Given the description of an element on the screen output the (x, y) to click on. 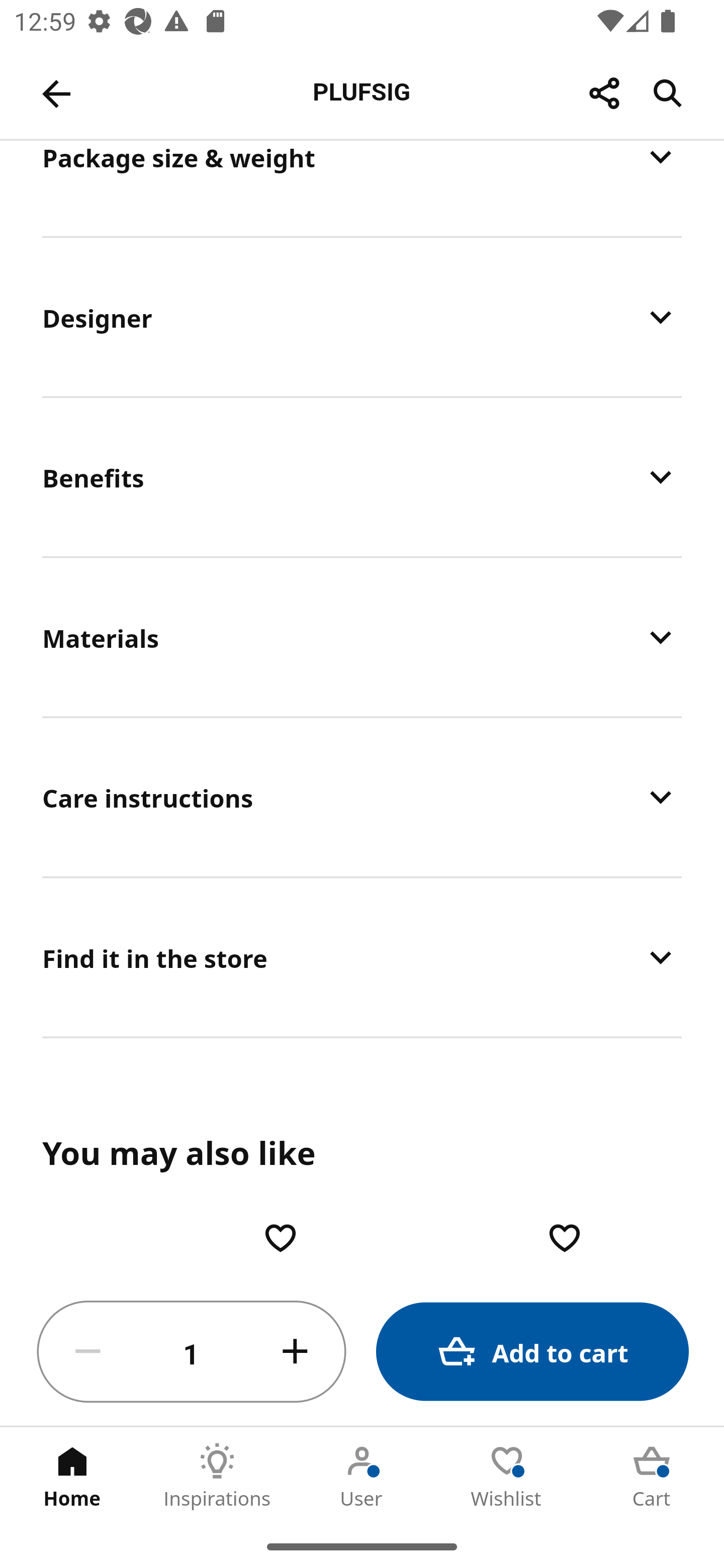
Package size & weight (361, 187)
Designer (361, 317)
Benefits (361, 477)
Materials (361, 637)
Care instructions (361, 796)
Find it in the store (361, 956)
Add to cart (531, 1352)
1 (191, 1352)
Home
Tab 1 of 5 (72, 1476)
Inspirations
Tab 2 of 5 (216, 1476)
User
Tab 3 of 5 (361, 1476)
Wishlist
Tab 4 of 5 (506, 1476)
Cart
Tab 5 of 5 (651, 1476)
